Given the description of an element on the screen output the (x, y) to click on. 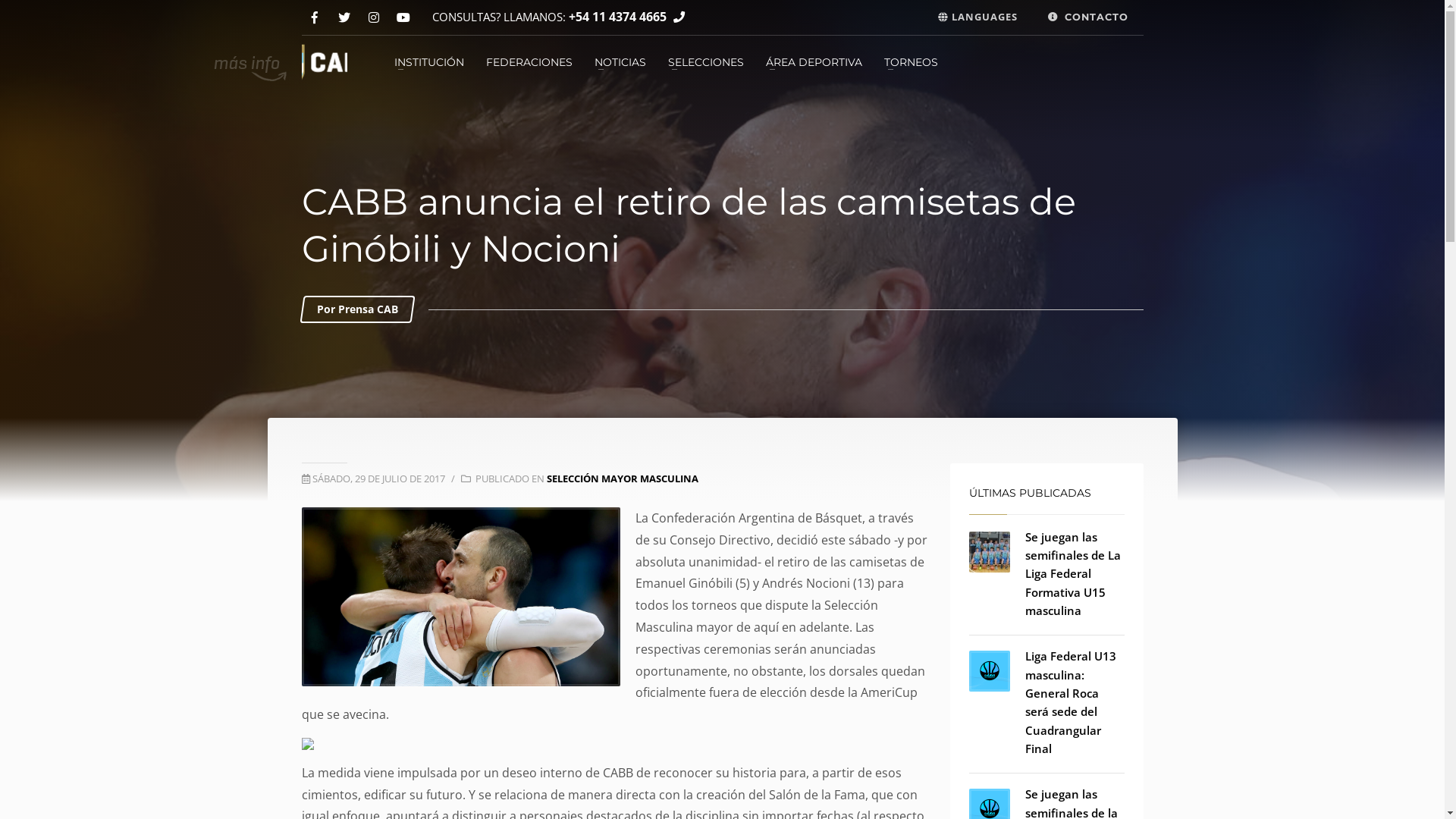
Twitter Element type: hover (343, 17)
LANGUAGES Element type: text (976, 16)
TORNEOS Element type: text (911, 62)
SELECCIONES Element type: text (705, 62)
Facebook Element type: hover (314, 17)
FEDERACIONES Element type: text (528, 62)
+54 11 4374 4665 Element type: text (617, 16)
Por Prensa CAB Element type: text (357, 309)
Instagram Element type: hover (373, 17)
Youtube Element type: hover (402, 17)
NOTICIAS Element type: text (620, 62)
